Given the description of an element on the screen output the (x, y) to click on. 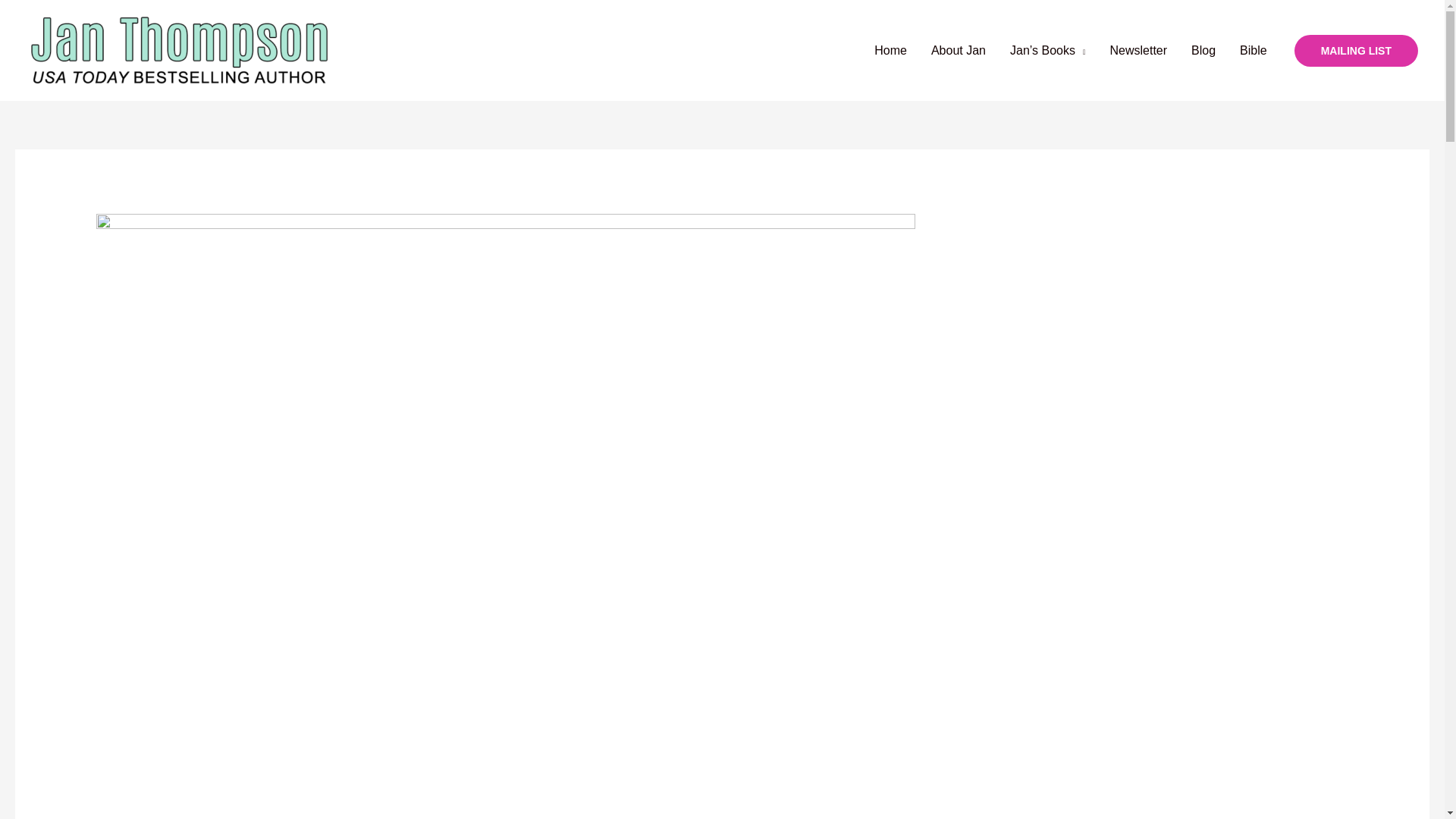
MAILING LIST (1356, 50)
Newsletter (1138, 50)
Blog (1203, 50)
Bible (1253, 50)
About Jan (957, 50)
Home (889, 50)
